Given the description of an element on the screen output the (x, y) to click on. 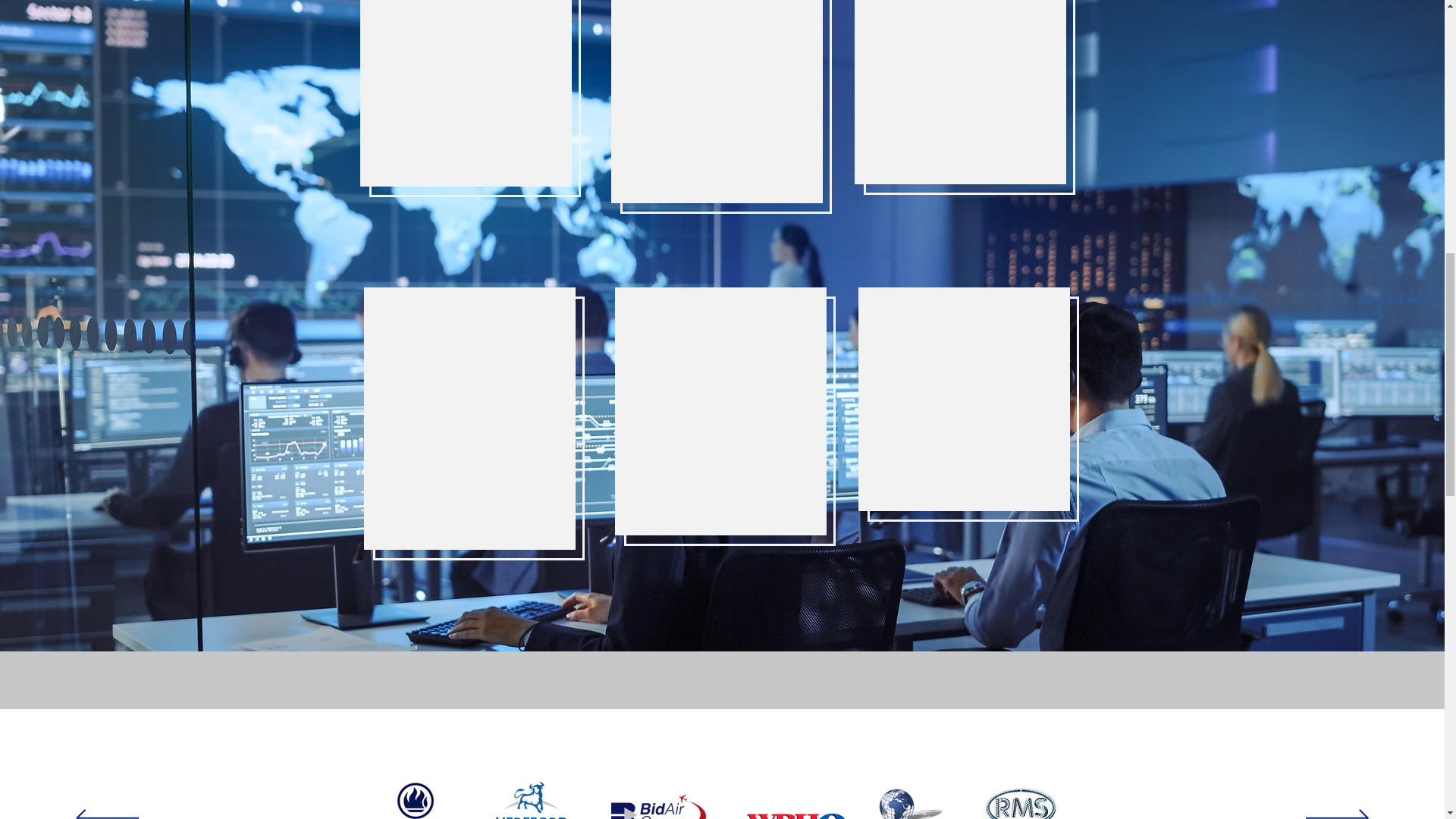
Hereford (531, 800)
BidAir Cargo (658, 806)
RMS (1020, 800)
Envestpro (922, 797)
Liberty (415, 797)
WBHO (796, 803)
